Given the description of an element on the screen output the (x, y) to click on. 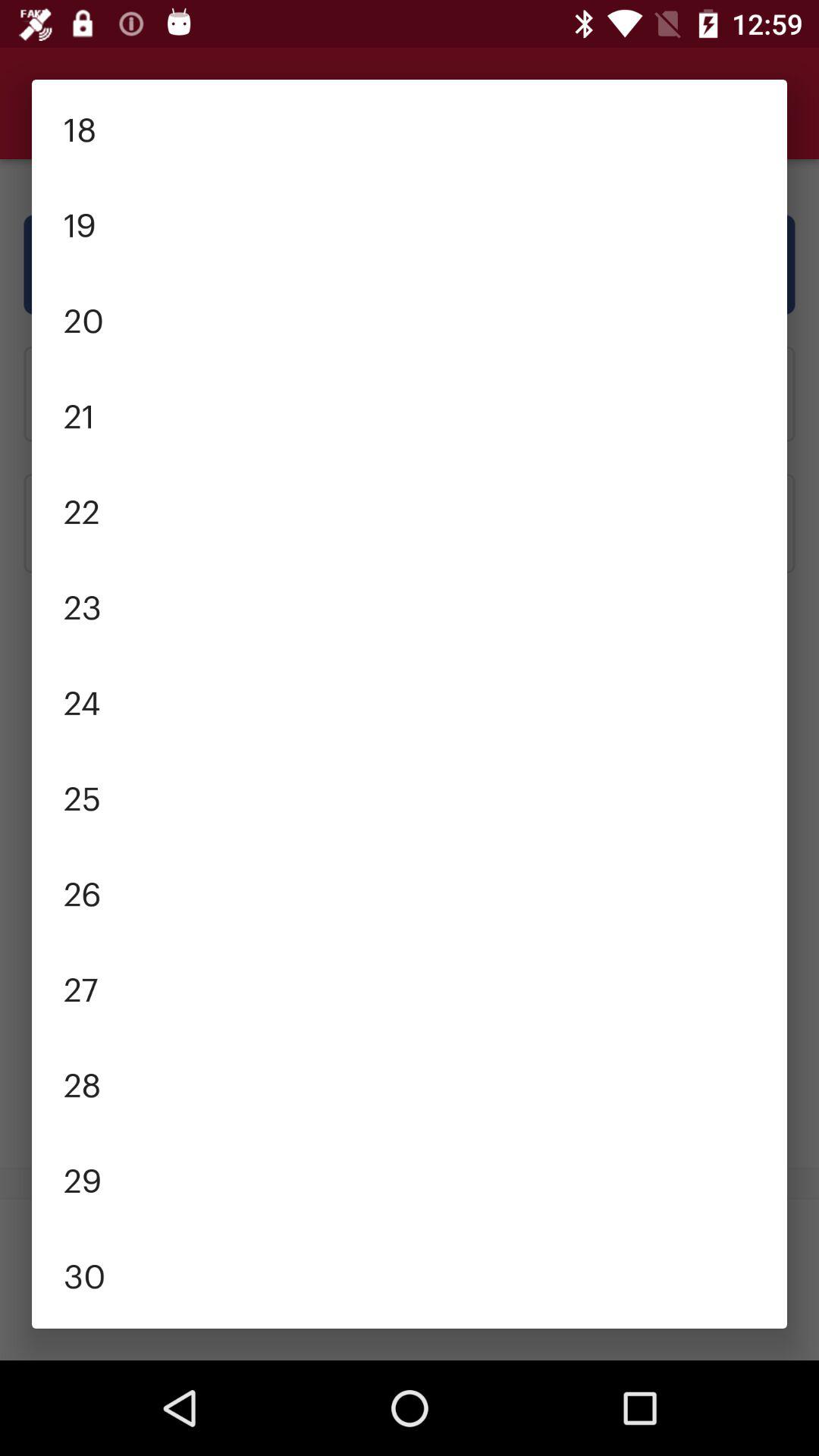
launch item below the 22 (409, 604)
